Given the description of an element on the screen output the (x, y) to click on. 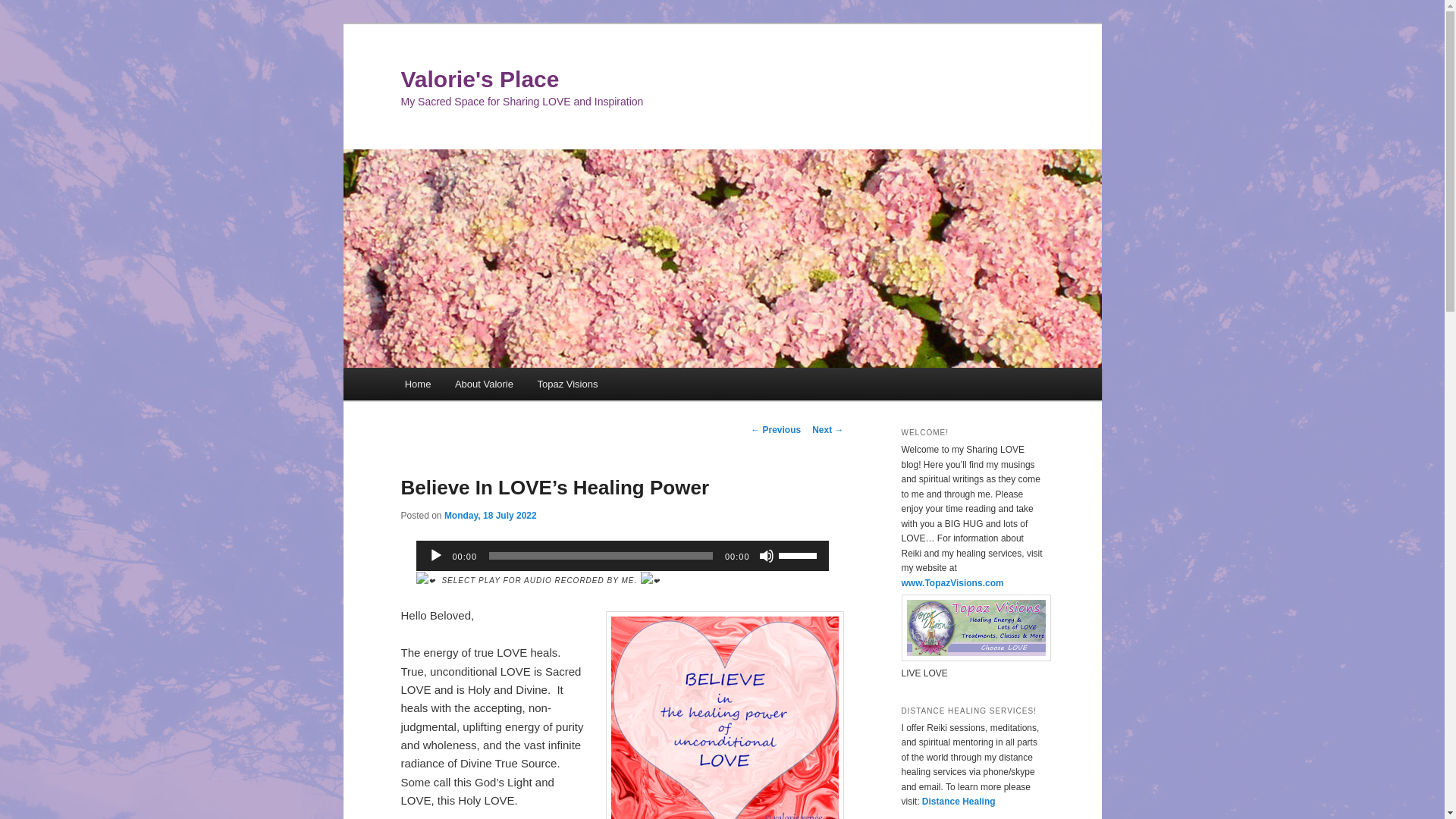
Skip to primary content (472, 386)
www.TopazVisions.com (952, 583)
Distance Healing (958, 801)
About Valorie (483, 383)
3:43 pm (490, 515)
Skip to primary content (472, 386)
Mute (765, 555)
Valorie's Place (479, 78)
Home (417, 383)
Play (435, 555)
